Given the description of an element on the screen output the (x, y) to click on. 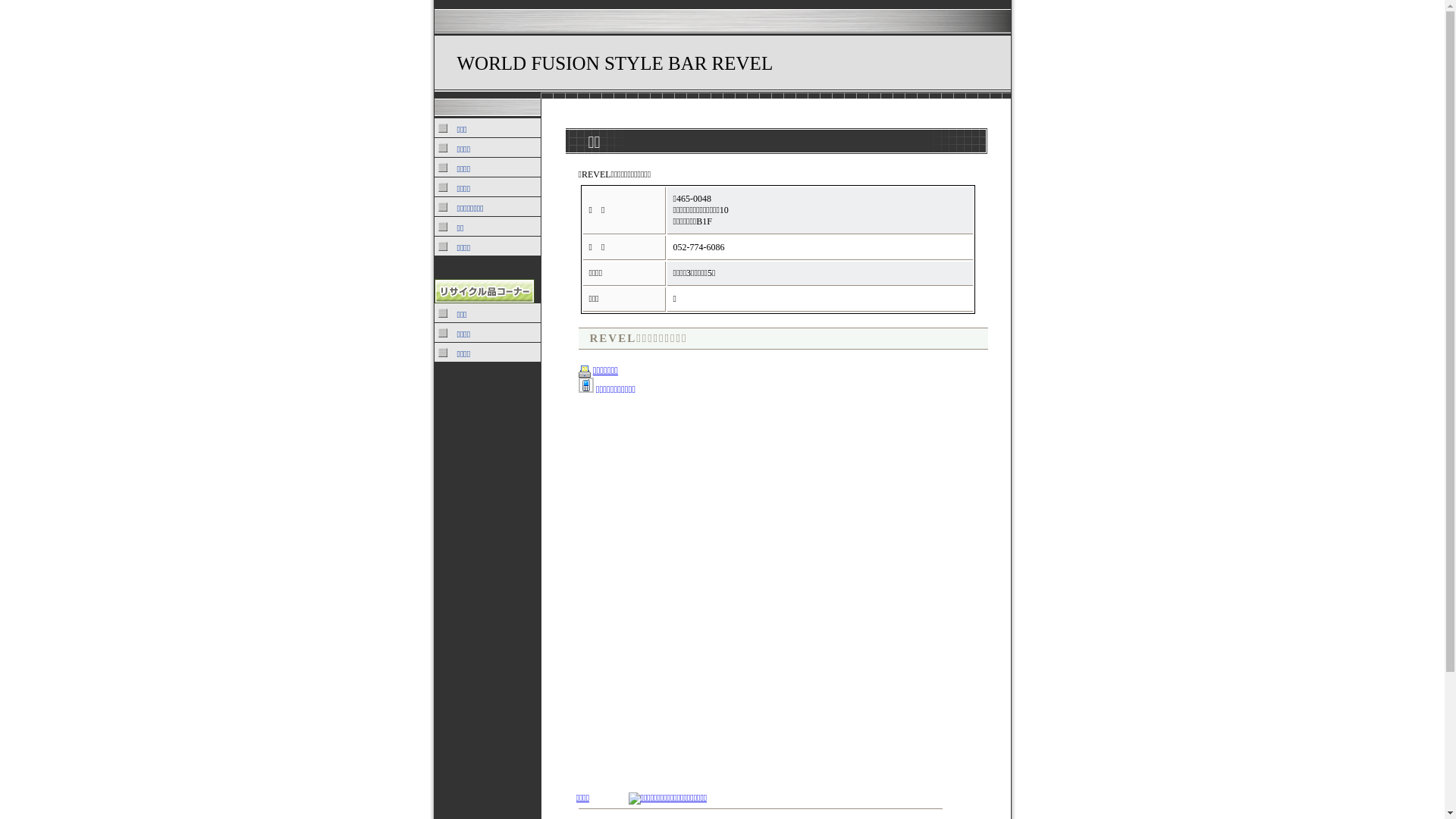
WORLD FUSION STYLE BAR REVEL Element type: text (614, 63)
